Given the description of an element on the screen output the (x, y) to click on. 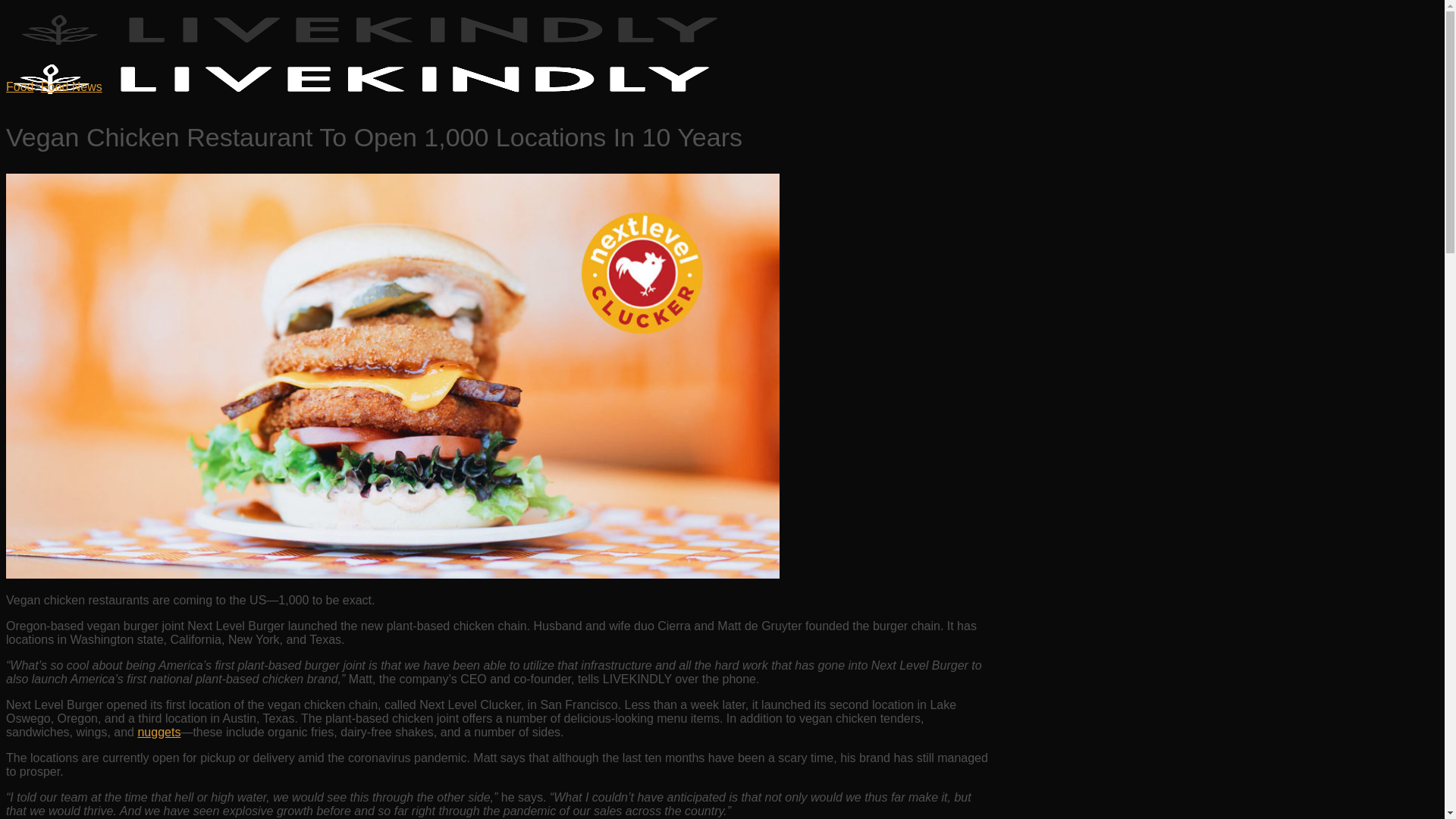
Food News (70, 86)
LIVEKINDLY - Home of Sustainable Living (371, 72)
Food (19, 86)
nuggets (158, 731)
